Given the description of an element on the screen output the (x, y) to click on. 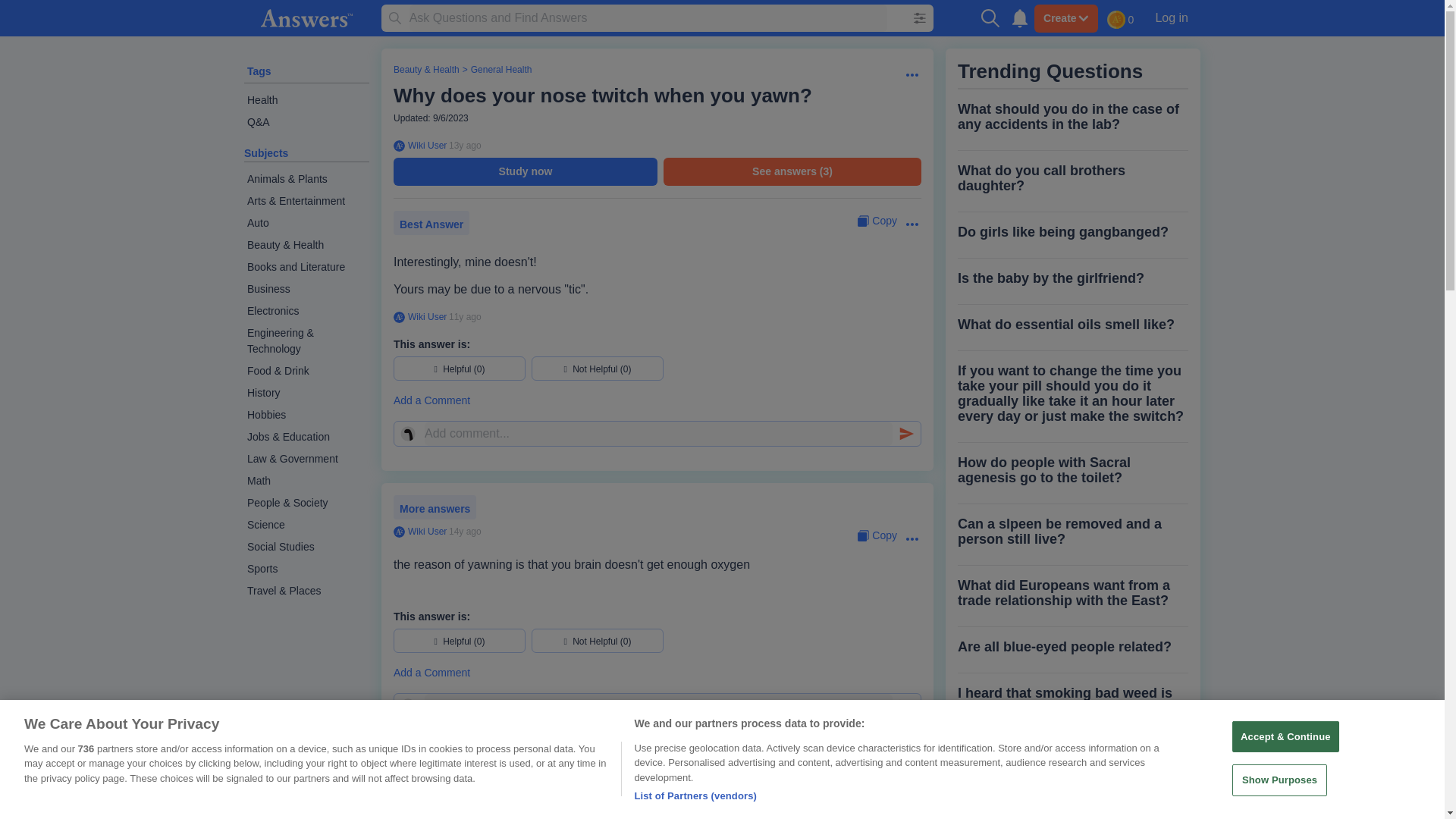
Business (306, 289)
2012-11-27 04:31:40 (464, 317)
Health (306, 100)
Hobbies (306, 414)
History (306, 393)
Sports (306, 568)
Add a Comment (657, 400)
Copy (876, 220)
Social Studies (306, 546)
Science (306, 525)
Why does your nose twitch when you yawn? (602, 95)
2011-03-08 19:18:27 (464, 761)
2011-03-08 19:18:27 (464, 145)
Math (306, 481)
2010-05-27 12:52:18 (464, 531)
